Given the description of an element on the screen output the (x, y) to click on. 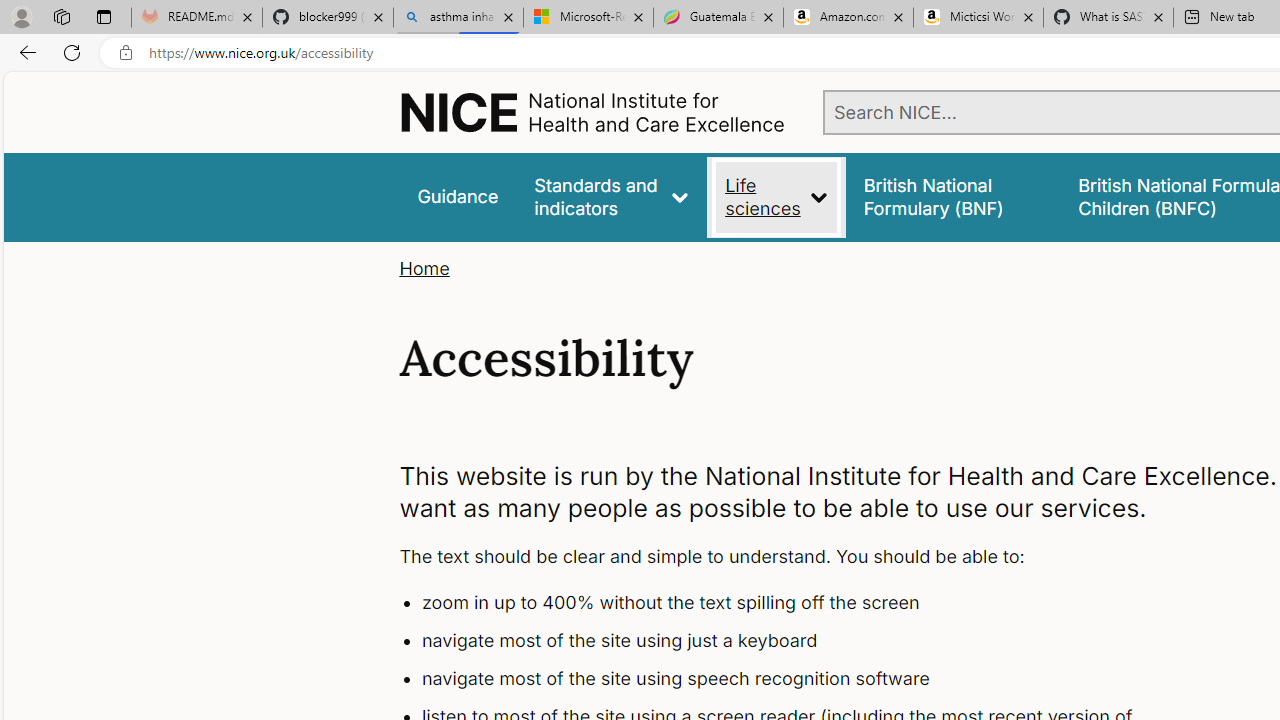
navigate most of the site using speech recognition software (796, 678)
navigate most of the site using just a keyboard (796, 641)
asthma inhaler - Search (458, 17)
